Given the description of an element on the screen output the (x, y) to click on. 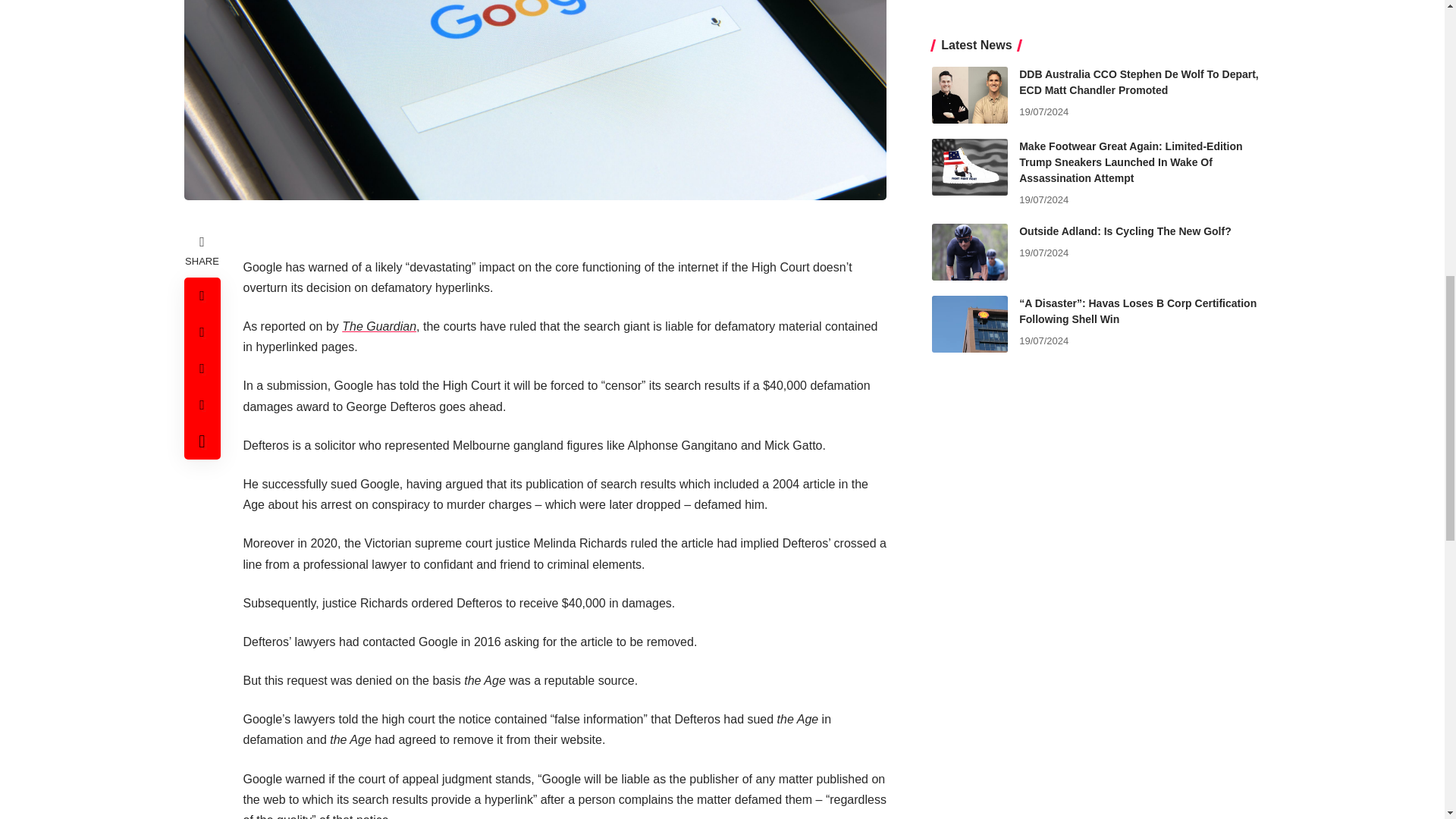
Outside Adland: Is Cycling The New Golf? (969, 1)
